Given the description of an element on the screen output the (x, y) to click on. 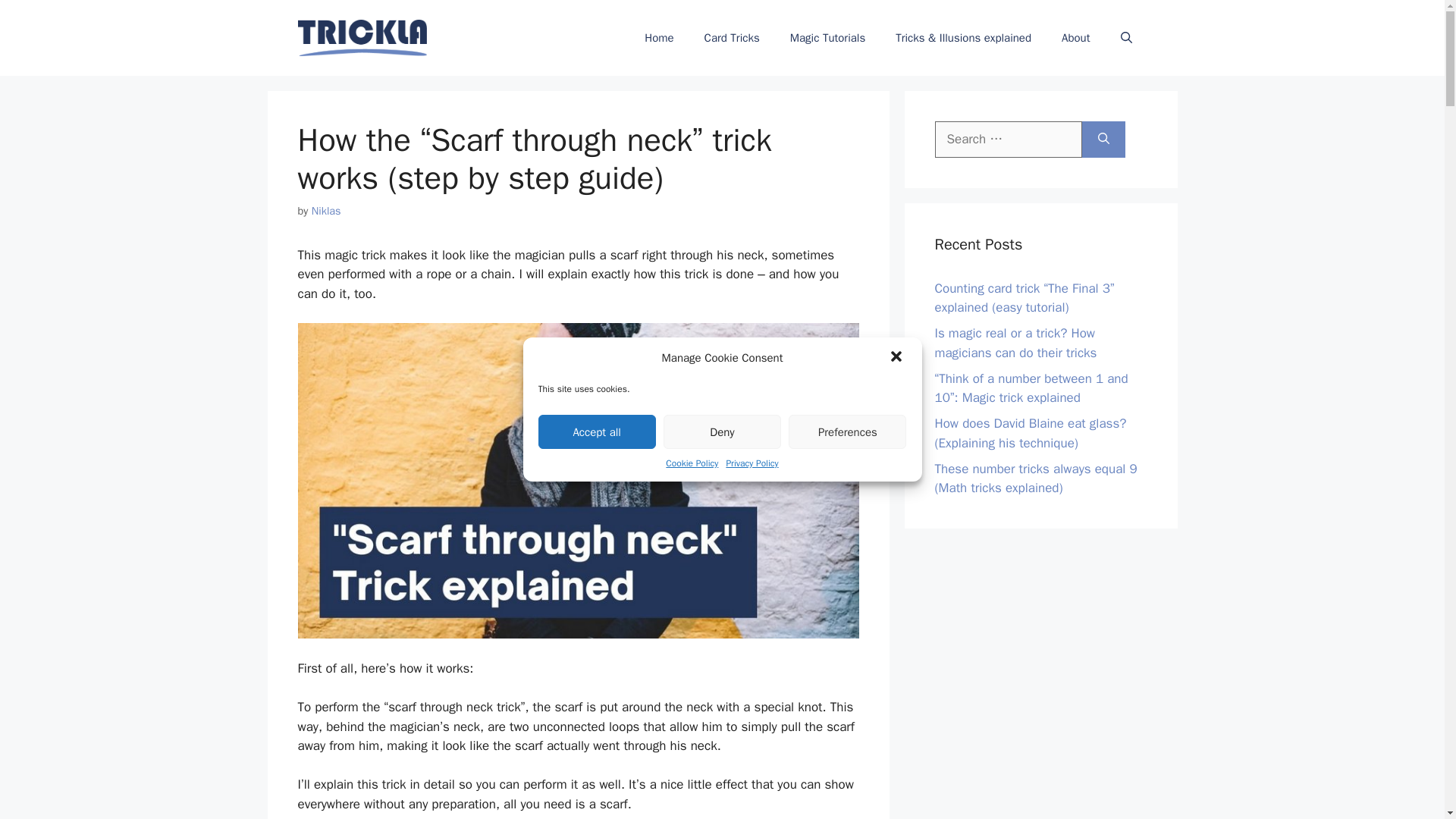
trickla.com (361, 37)
Privacy Policy (751, 463)
Cookie Policy (691, 463)
Deny (721, 431)
Card Tricks (731, 37)
Accept all (597, 431)
Niklas (325, 210)
About (1075, 37)
Search for: (1007, 139)
Preferences (847, 431)
